Given the description of an element on the screen output the (x, y) to click on. 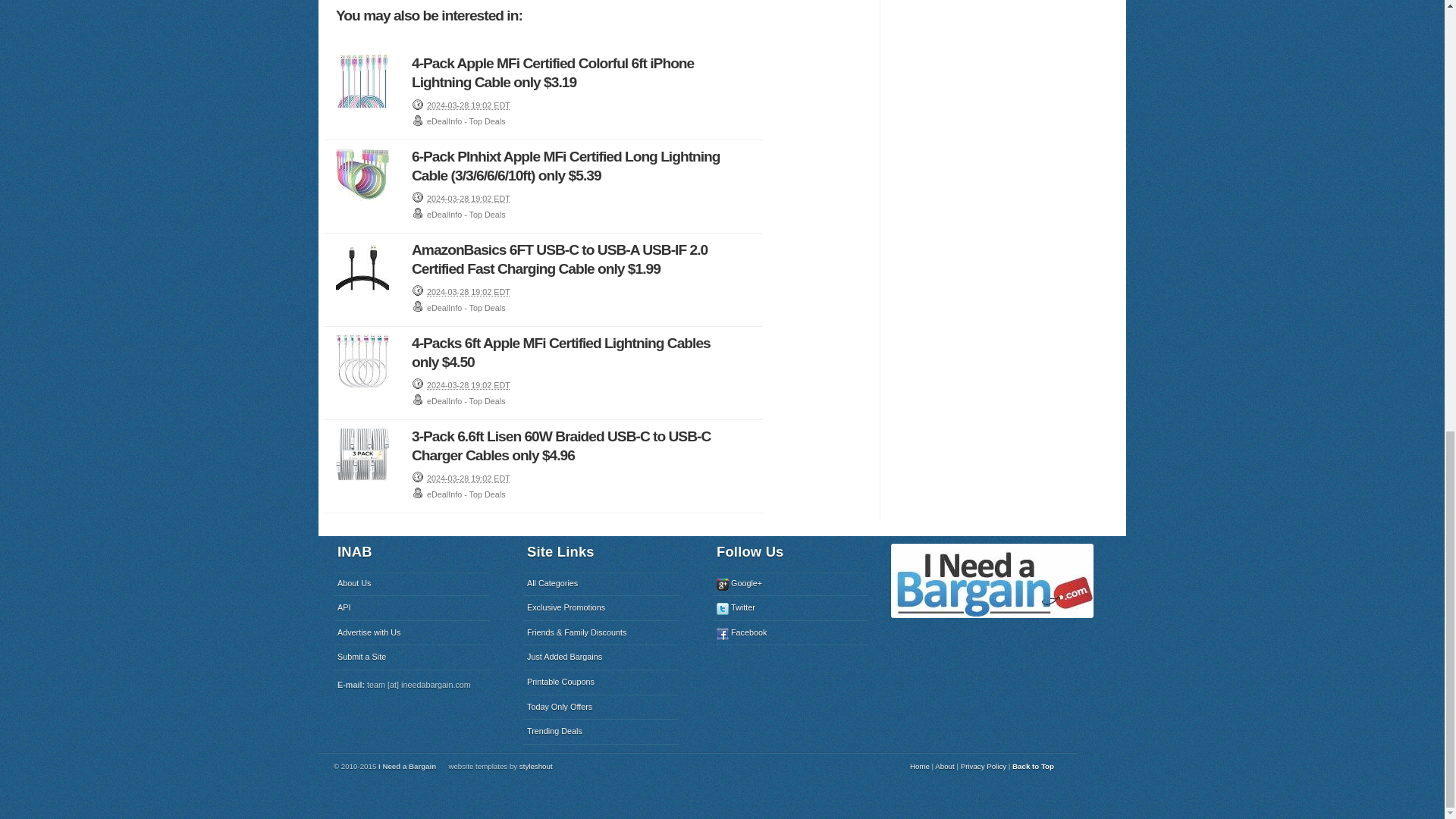
Advertise with Us (411, 632)
Submit a Site (411, 657)
All Categories (600, 583)
2024-03-26 13:02:21 -0400 (468, 478)
About Us (411, 583)
Exclusive Promotions (600, 607)
2024-04-01 17:02:23 -0400 (468, 198)
2024-04-03 16:32:22 -0400 (468, 104)
2024-03-26 21:02:21 -0400 (468, 384)
API (411, 607)
